Given the description of an element on the screen output the (x, y) to click on. 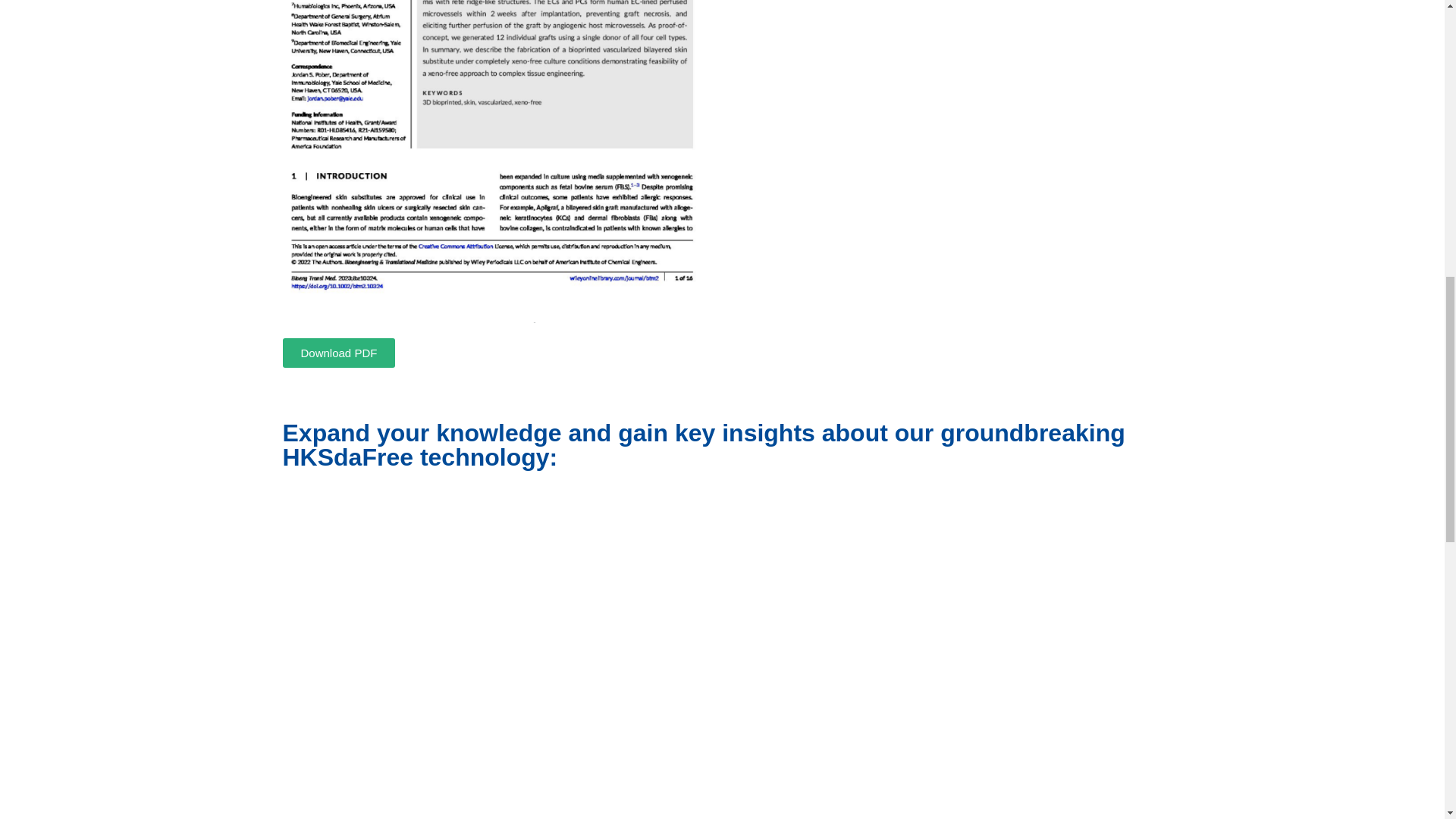
Download PDF (338, 352)
